Given the description of an element on the screen output the (x, y) to click on. 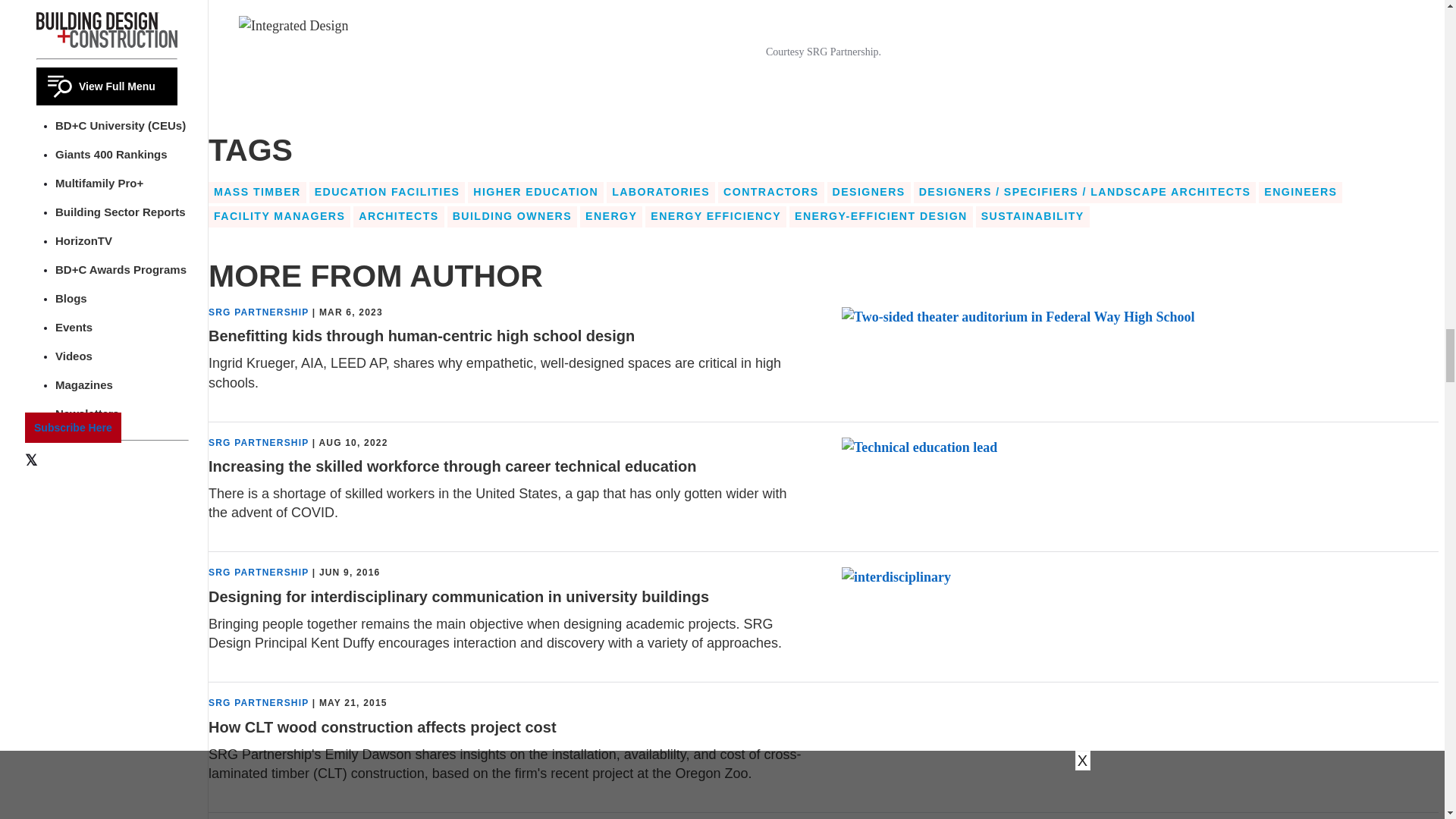
EDUCATION FACILITIES (386, 192)
ARCHITECTS (398, 216)
ENGINEERS (1300, 192)
CONTRACTORS (770, 192)
DESIGNERS (869, 192)
MASS TIMBER (256, 192)
FACILITY MANAGERS (279, 216)
ENERGY (610, 216)
HIGHER EDUCATION (535, 192)
Technical education lead (919, 447)
LABORATORIES (660, 192)
BUILDING OWNERS (511, 216)
ENERGY EFFICIENCY (715, 216)
ENERGY-EFFICIENT DESIGN (880, 216)
